Given the description of an element on the screen output the (x, y) to click on. 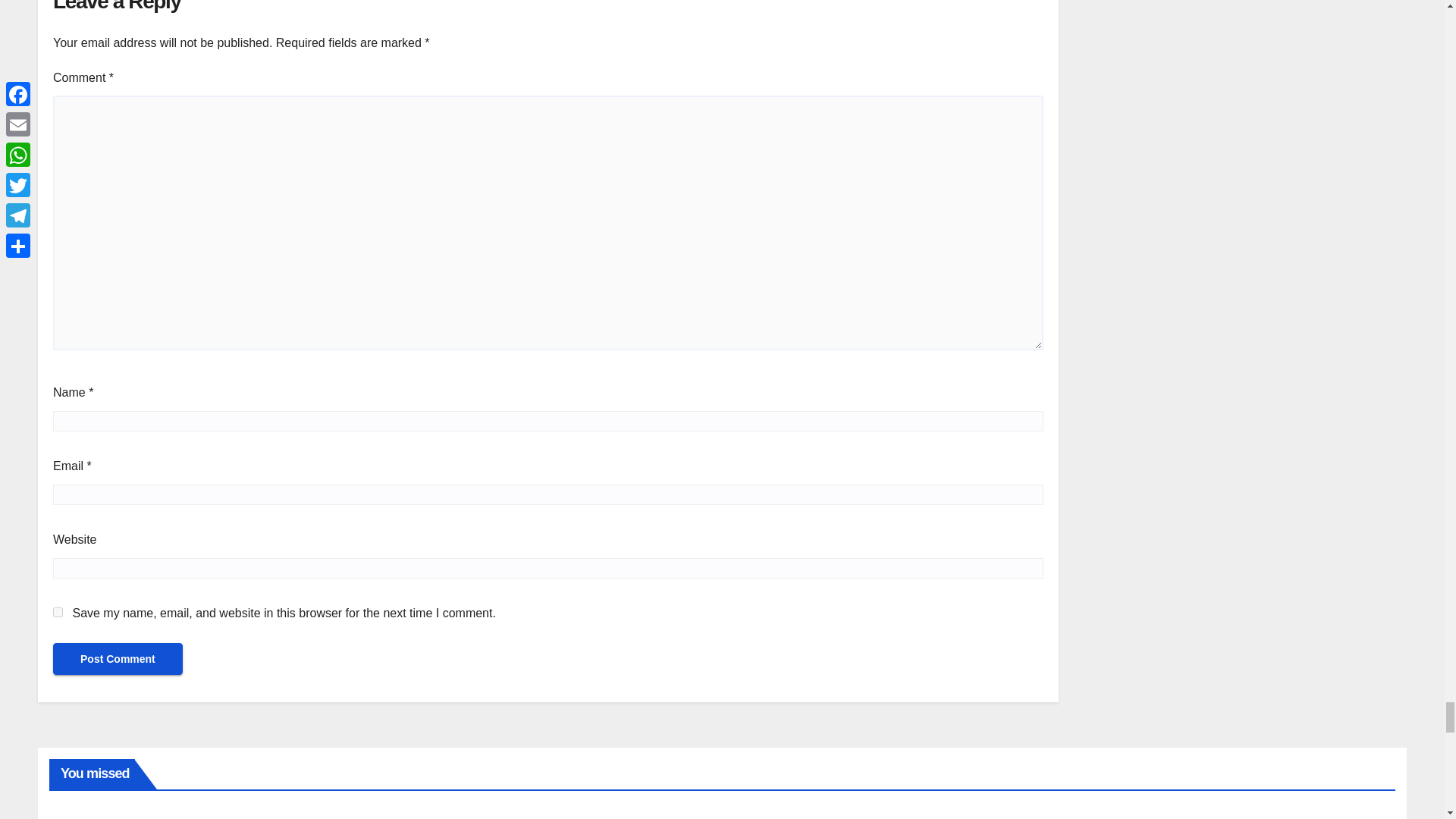
Post Comment (117, 658)
yes (57, 612)
